Given the description of an element on the screen output the (x, y) to click on. 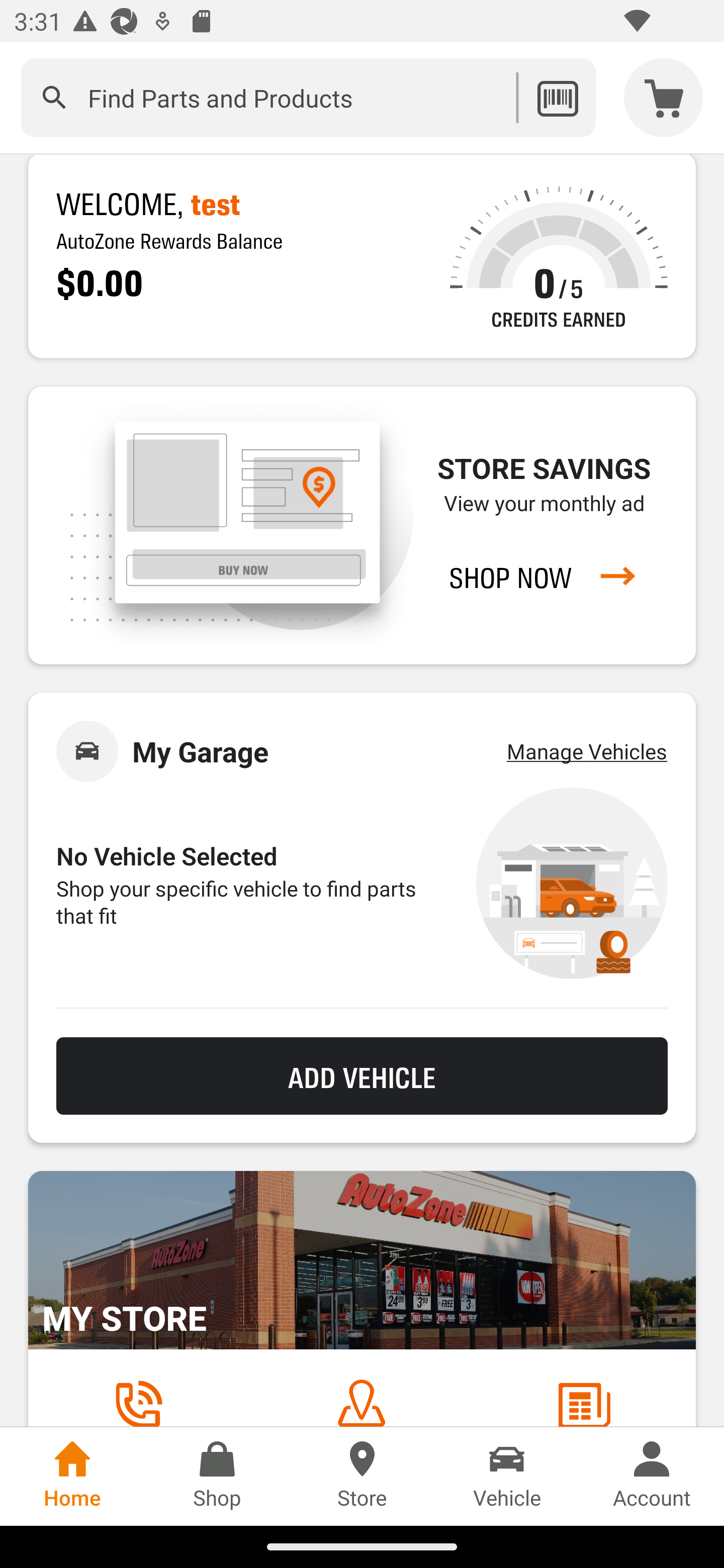
 scan-product-to-search  (557, 97)
 (54, 97)
Cart, no items  (663, 97)
Manage Vehicles (586, 750)
ADD VEHICLE (361, 1076)
Call Store  (138, 1402)
Directions  (361, 1402)
Store Info  (584, 1402)
Home (72, 1475)
Shop (216, 1475)
Store (361, 1475)
Vehicle (506, 1475)
Account (651, 1475)
